Given the description of an element on the screen output the (x, y) to click on. 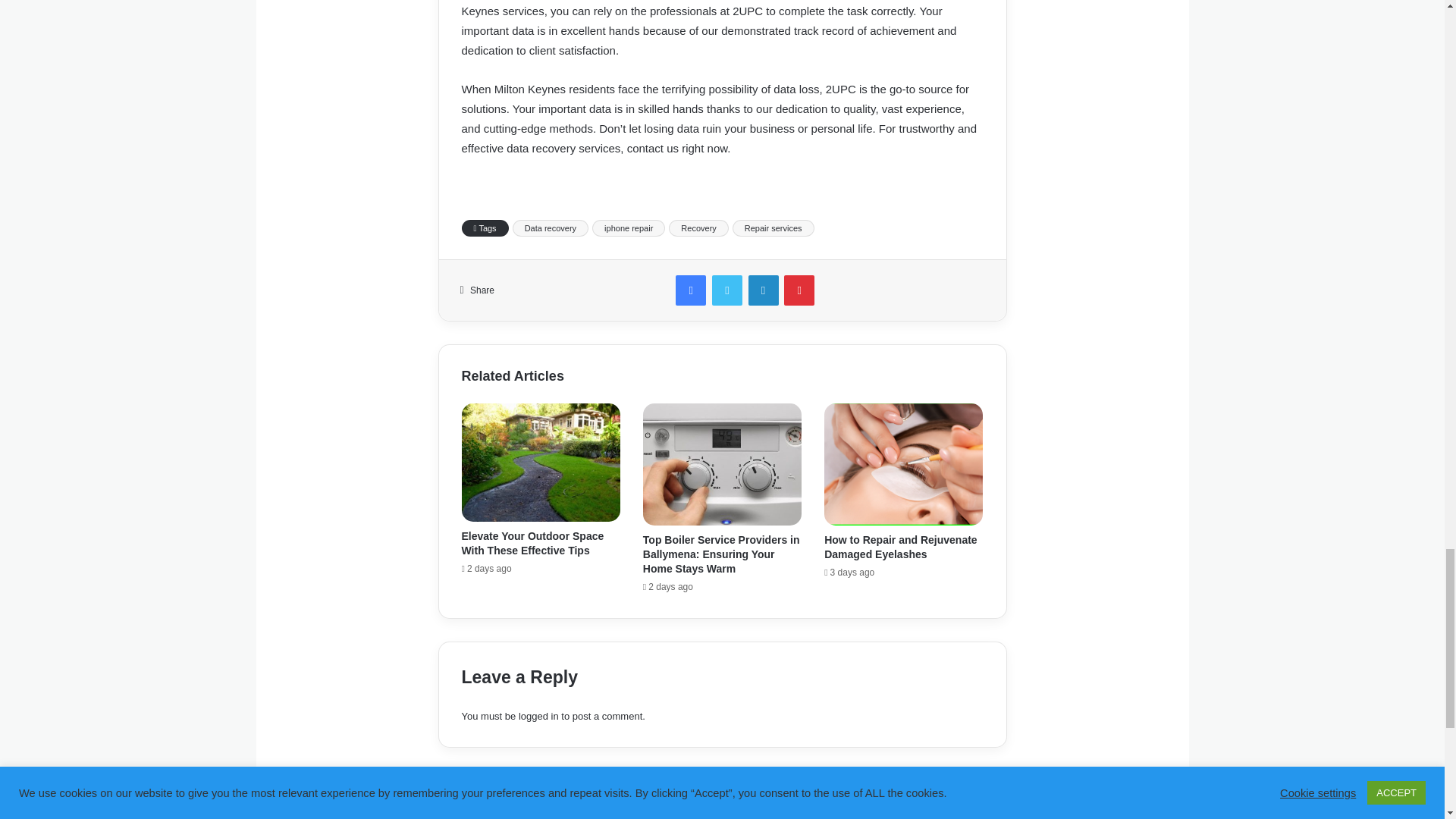
Facebook (690, 290)
